Given the description of an element on the screen output the (x, y) to click on. 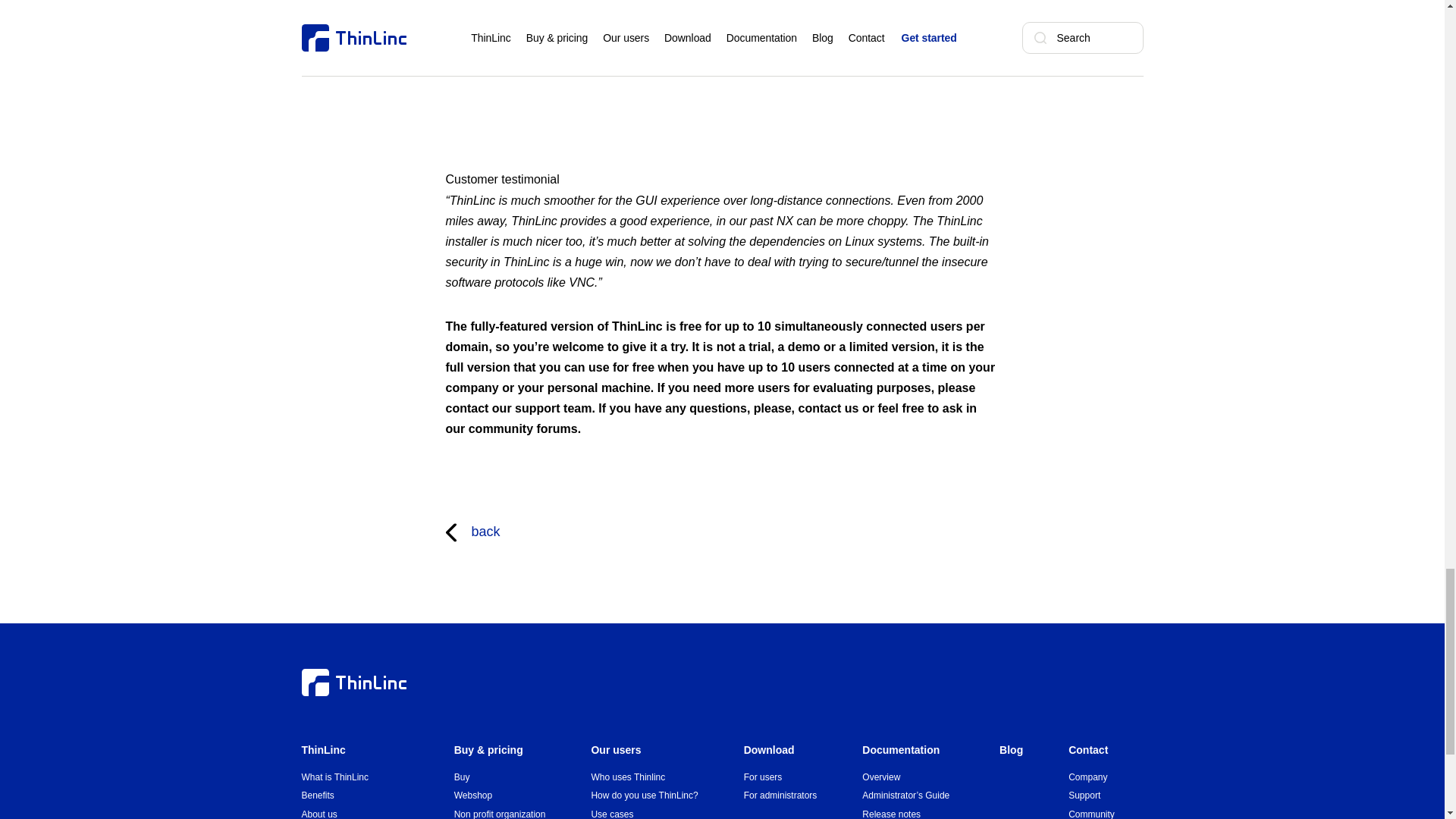
5 reasons why you should try ThinLinc instead of VNCs (721, 48)
